Given the description of an element on the screen output the (x, y) to click on. 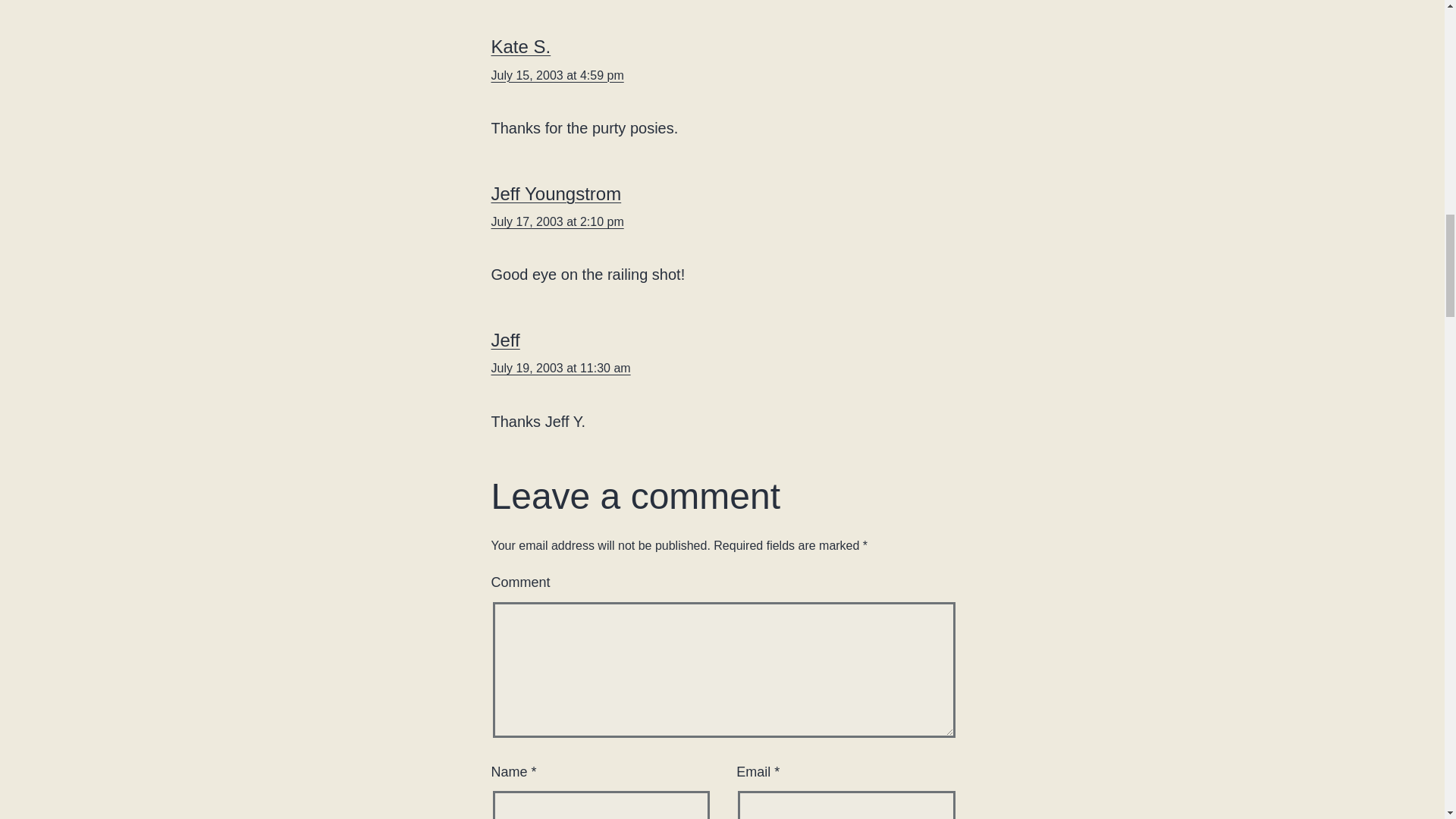
July 15, 2003 at 4:59 pm (558, 74)
July 19, 2003 at 11:30 am (561, 367)
Jeff (505, 340)
Kate S. (521, 46)
July 17, 2003 at 2:10 pm (558, 221)
Jeff Youngstrom (556, 193)
